Given the description of an element on the screen output the (x, y) to click on. 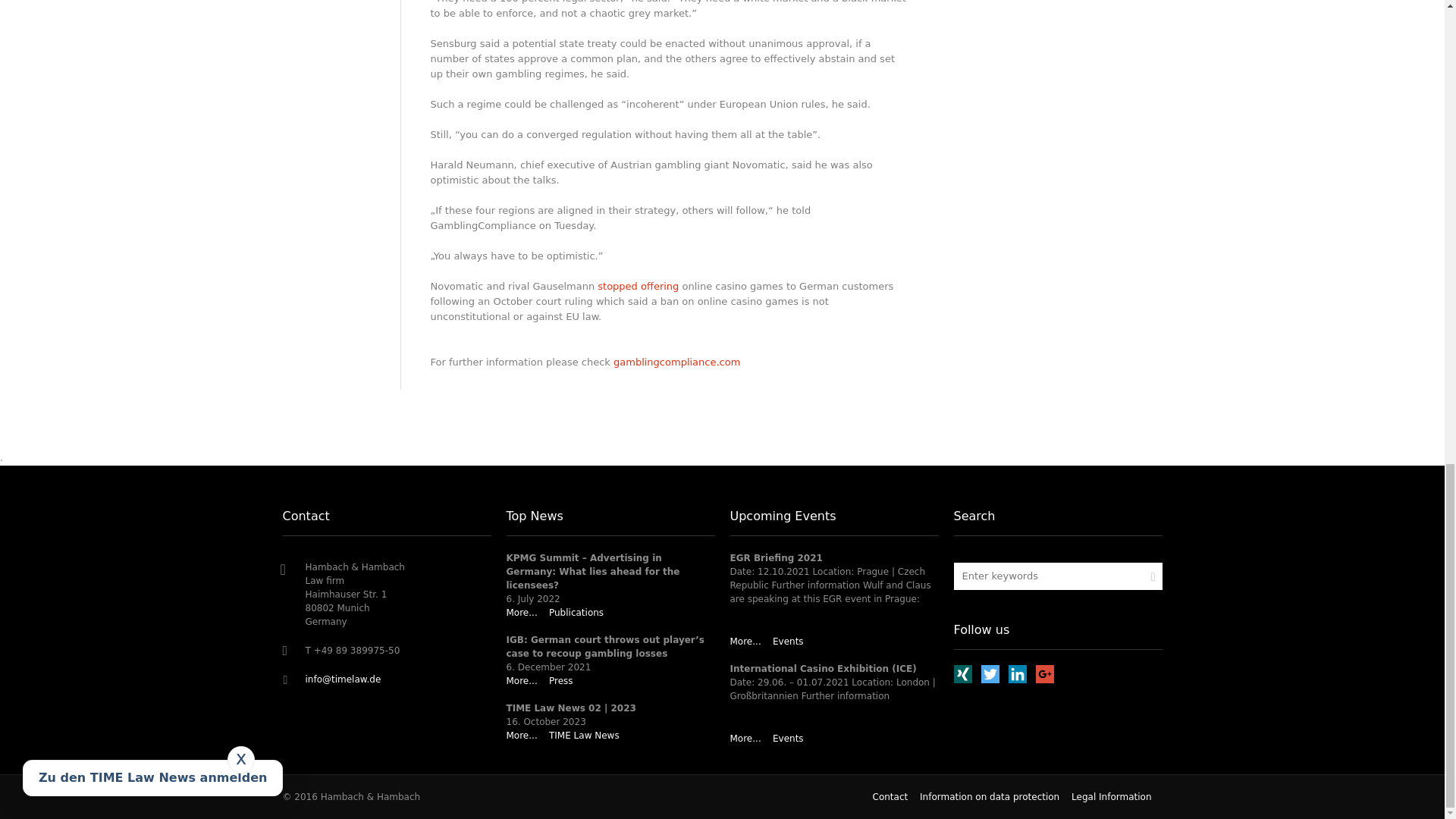
TIME Law News (584, 735)
Events (788, 738)
Publications (576, 612)
Events (788, 641)
Press (560, 680)
